Given the description of an element on the screen output the (x, y) to click on. 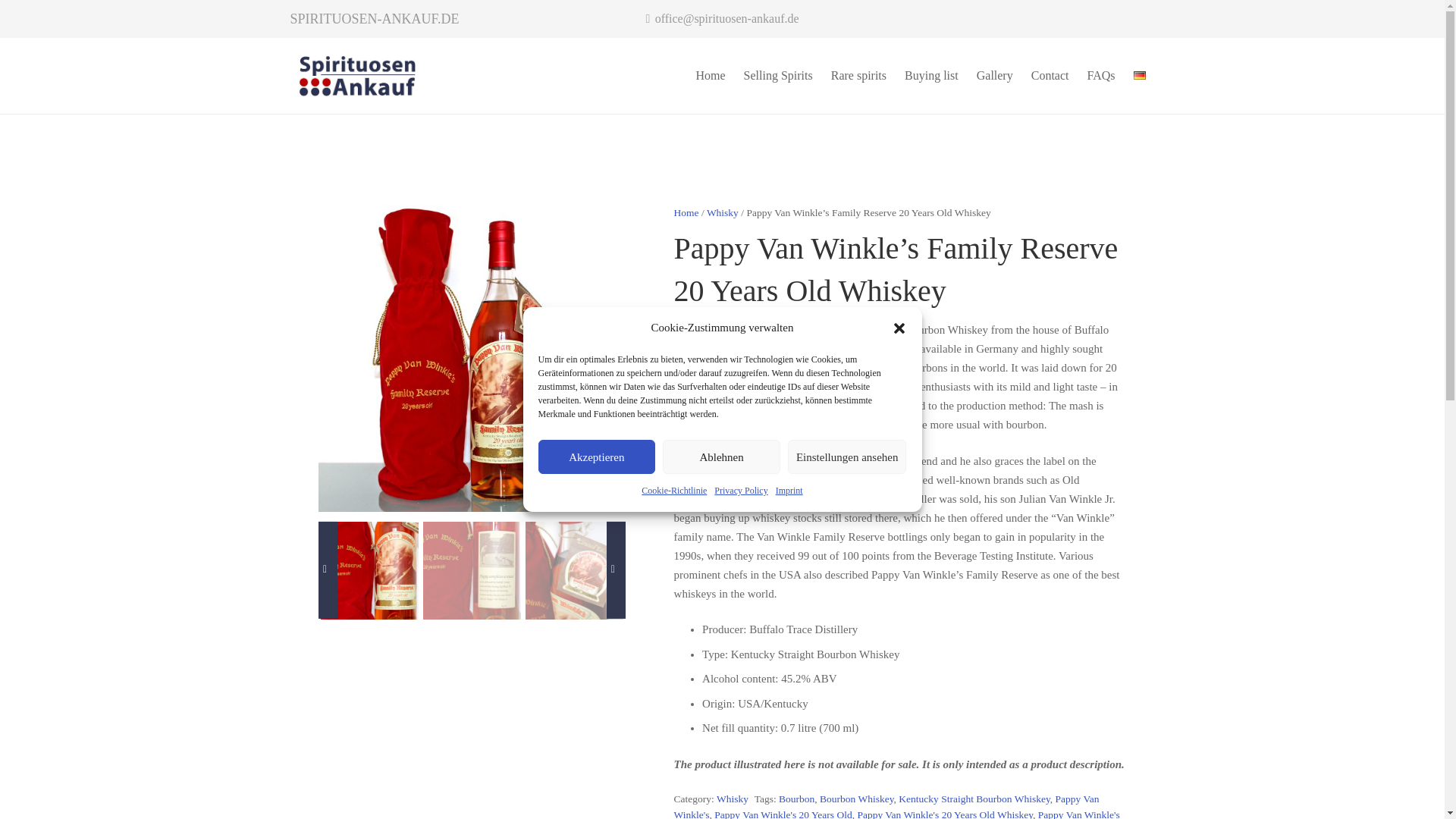
Privacy Policy (740, 490)
SPIRITUOSEN-ANKAUF.DE (373, 17)
Cookie-Richtlinie (674, 490)
Akzeptieren (597, 456)
Buying list (931, 75)
Contact (1050, 75)
Ablehnen (721, 456)
FAQs (1100, 75)
Imprint (789, 490)
Gallery (995, 75)
Rare spirits (858, 75)
Einstellungen ansehen (847, 456)
Selling Spirits (778, 75)
Home (709, 75)
